Given the description of an element on the screen output the (x, y) to click on. 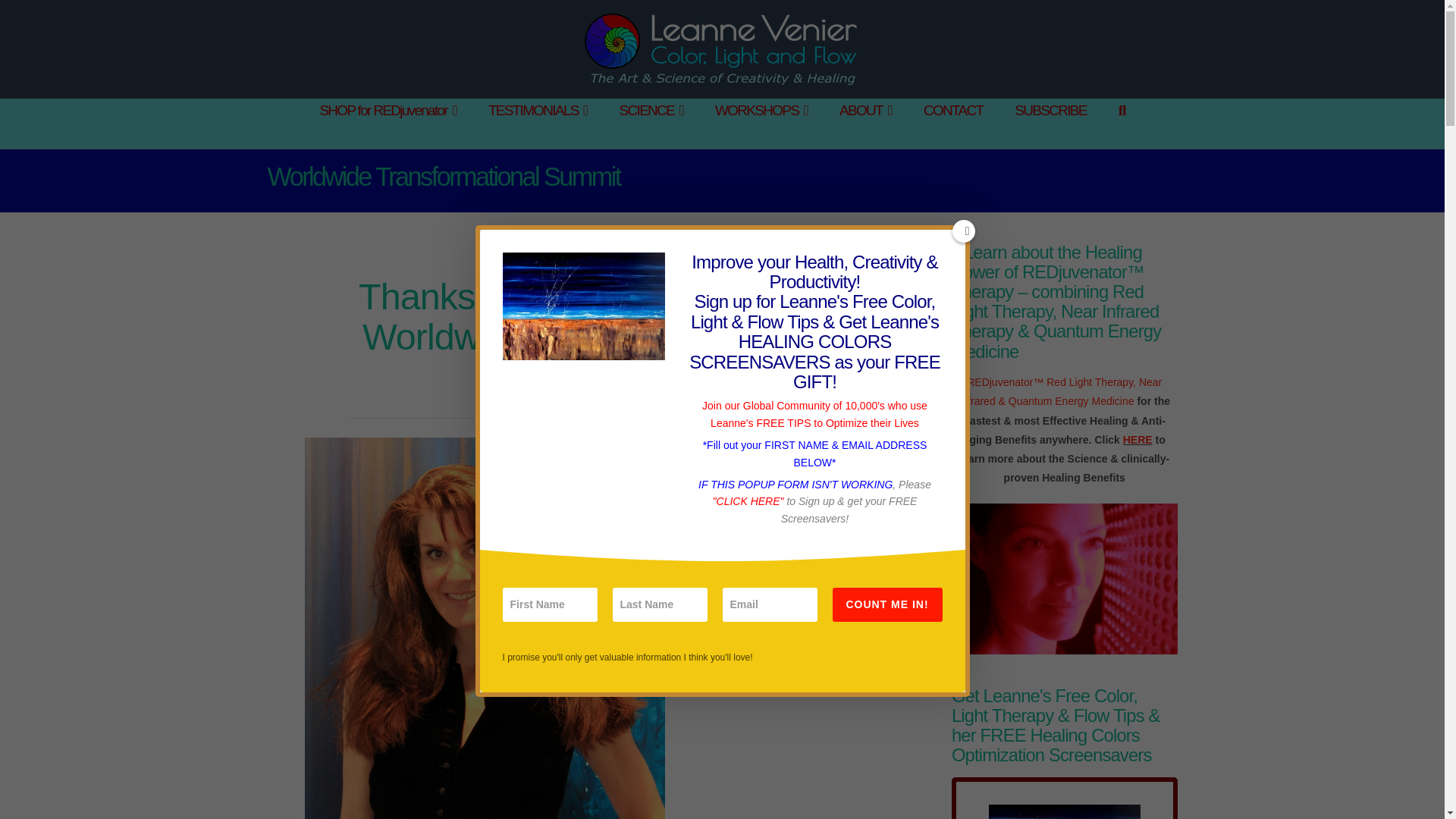
SHOP for REDjuvenator (387, 123)
WORKSHOPS (760, 123)
TESTIMONIALS (537, 123)
SCIENCE (651, 123)
